Given the description of an element on the screen output the (x, y) to click on. 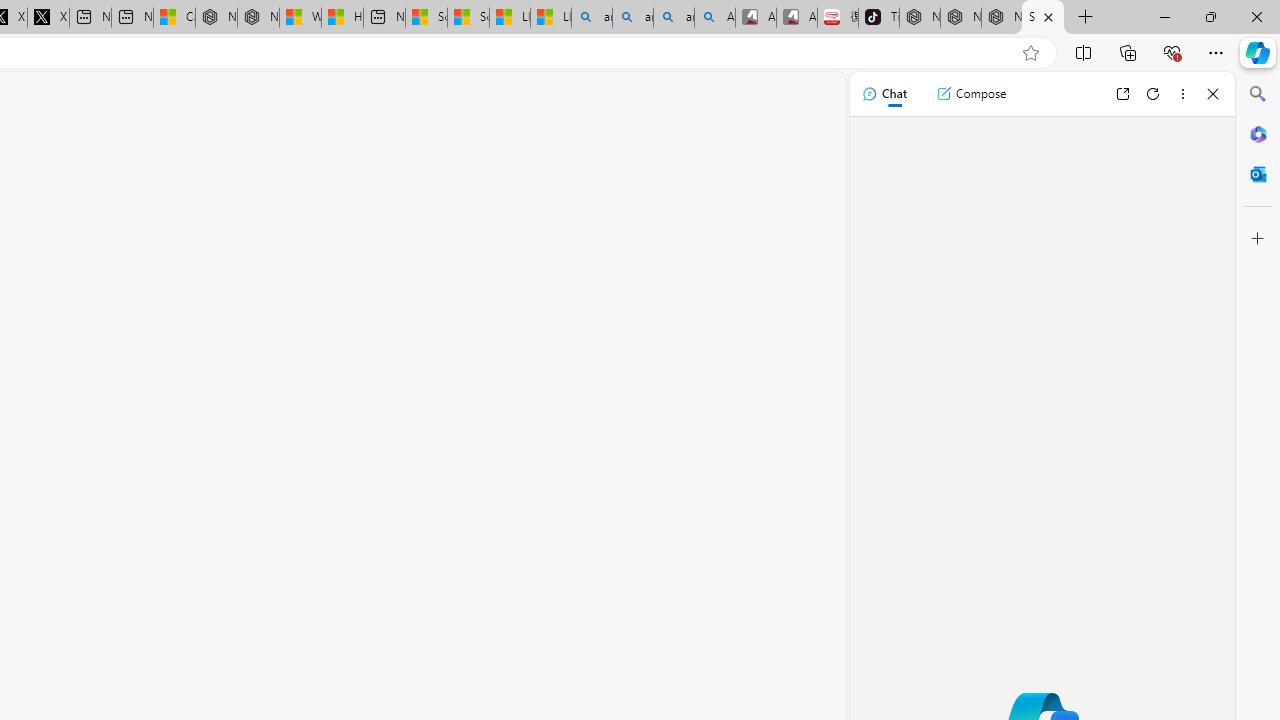
amazon - Search Images (673, 17)
Nordace Siena Pro 15 Backpack (960, 17)
